Given the description of an element on the screen output the (x, y) to click on. 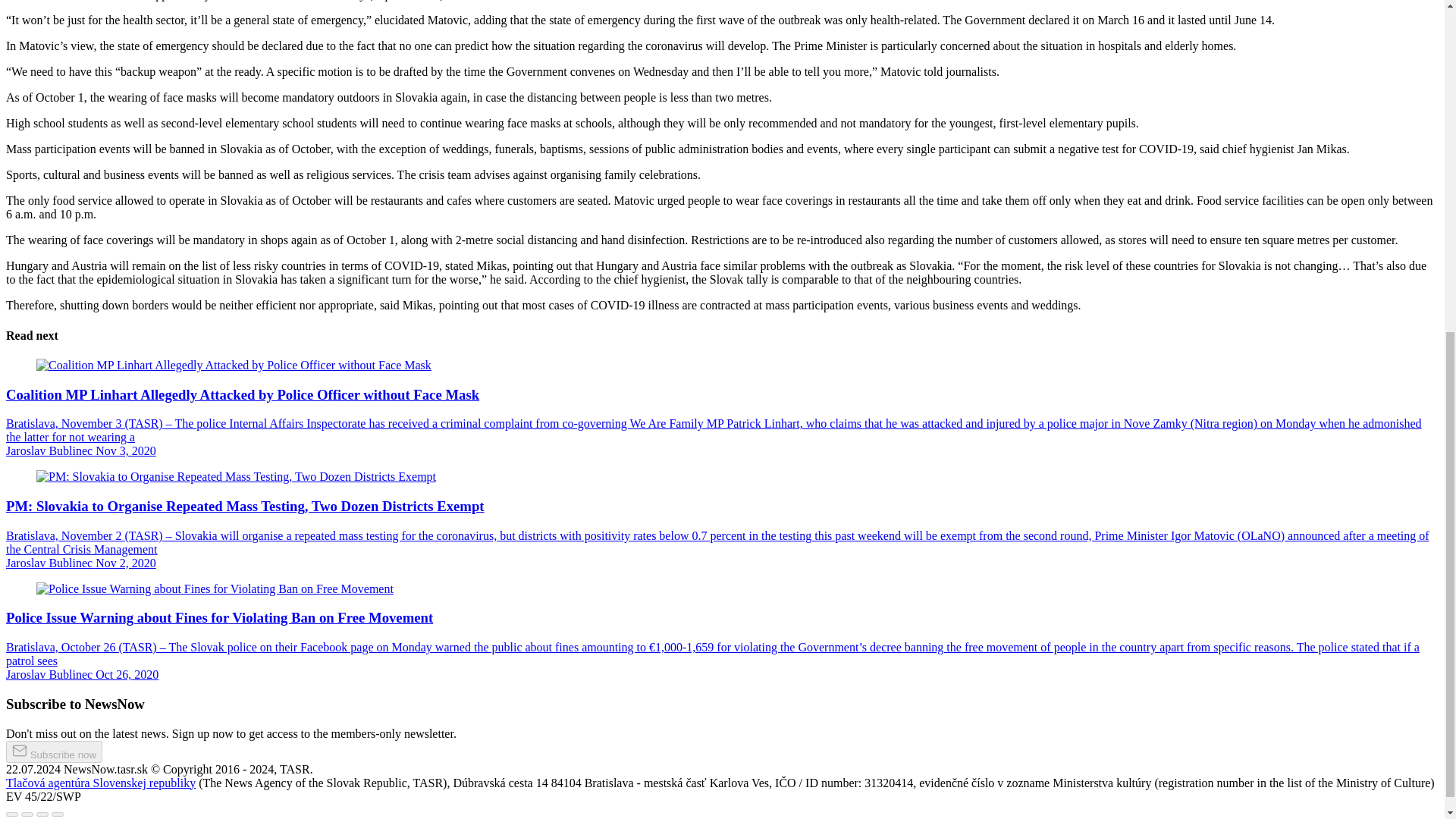
Share (27, 814)
Toggle fullscreen (42, 814)
Subscribe now (53, 751)
